Given the description of an element on the screen output the (x, y) to click on. 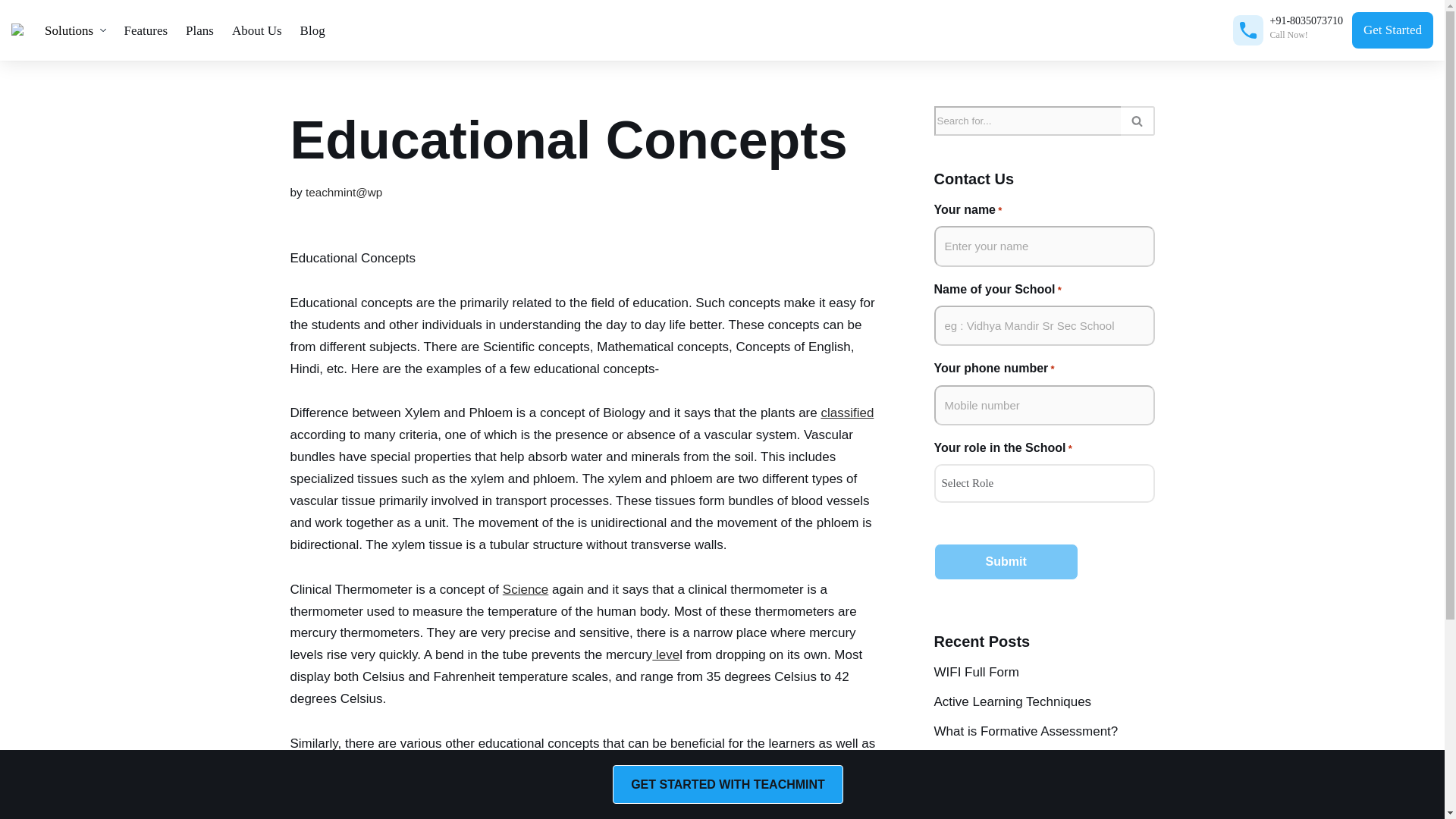
Submit (1006, 561)
Features (146, 30)
About Us (256, 30)
Blog (312, 30)
Plans (199, 30)
Skip to content (11, 31)
